Given the description of an element on the screen output the (x, y) to click on. 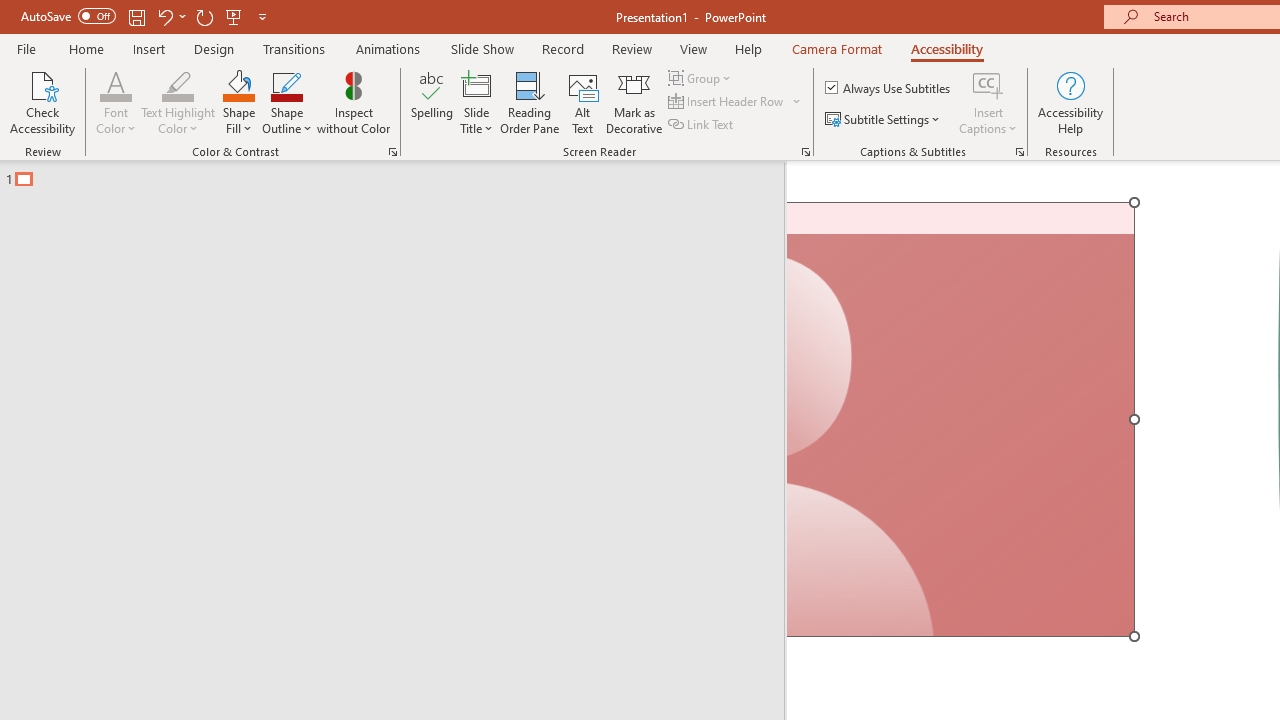
Accessibility Help (1070, 102)
